Given the description of an element on the screen output the (x, y) to click on. 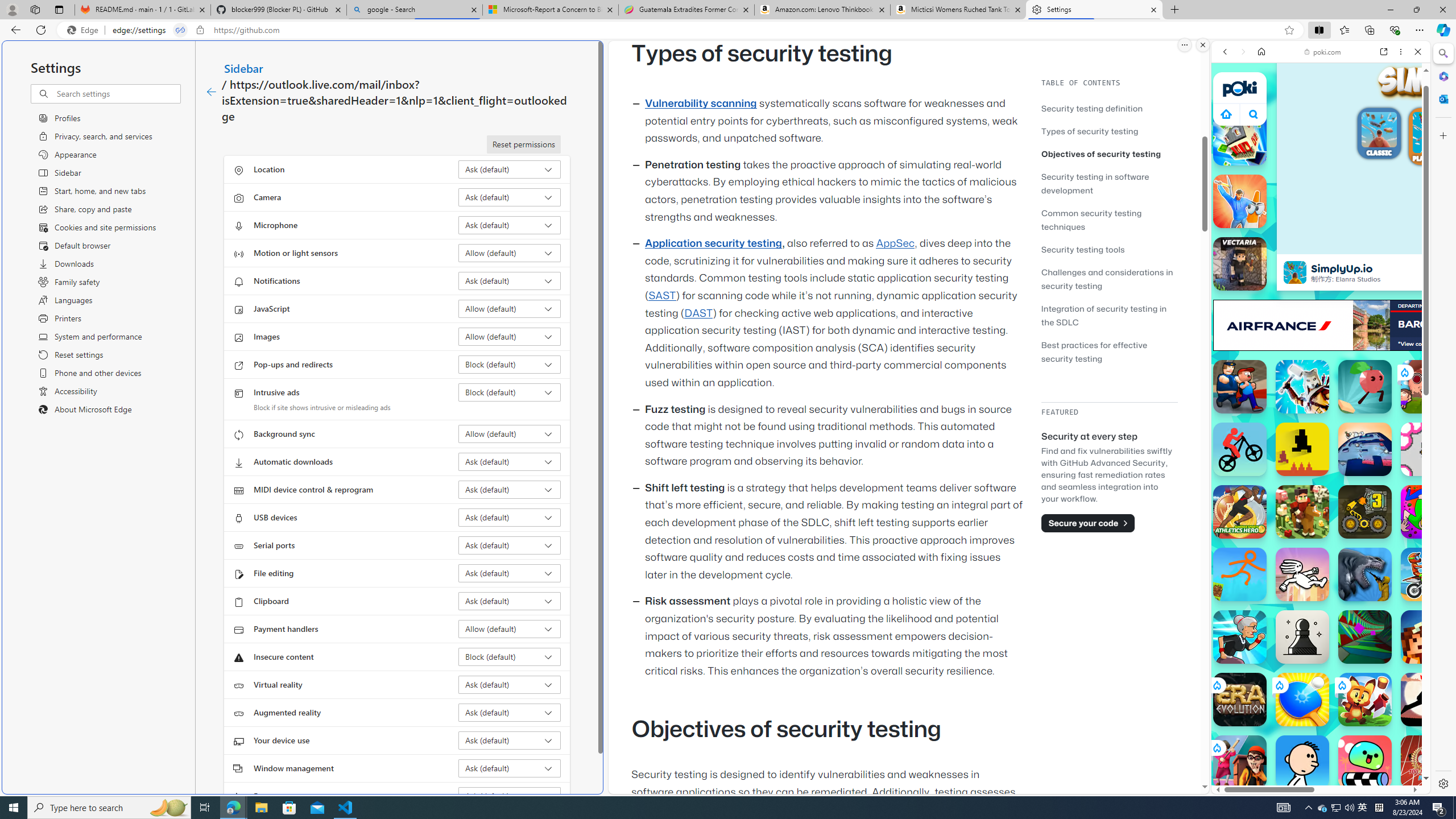
Lurkers.io Lurkers.io (1427, 636)
Up Together (1364, 386)
Stickman Bike (1239, 448)
Background sync Allow (default) (509, 434)
Open link in new tab (1383, 51)
Security testing in software development (1094, 182)
IMAGES (1262, 130)
Escape From School (1239, 386)
Vulnerability scanning (701, 103)
Stickman Parkour Skyland (1239, 574)
Common security testing techniques (1091, 219)
Stickman Parkour Skyland Stickman Parkour Skyland (1239, 574)
SUBWAY SURFERS - Play Online for Free! | Poki (1315, 765)
